Given the description of an element on the screen output the (x, y) to click on. 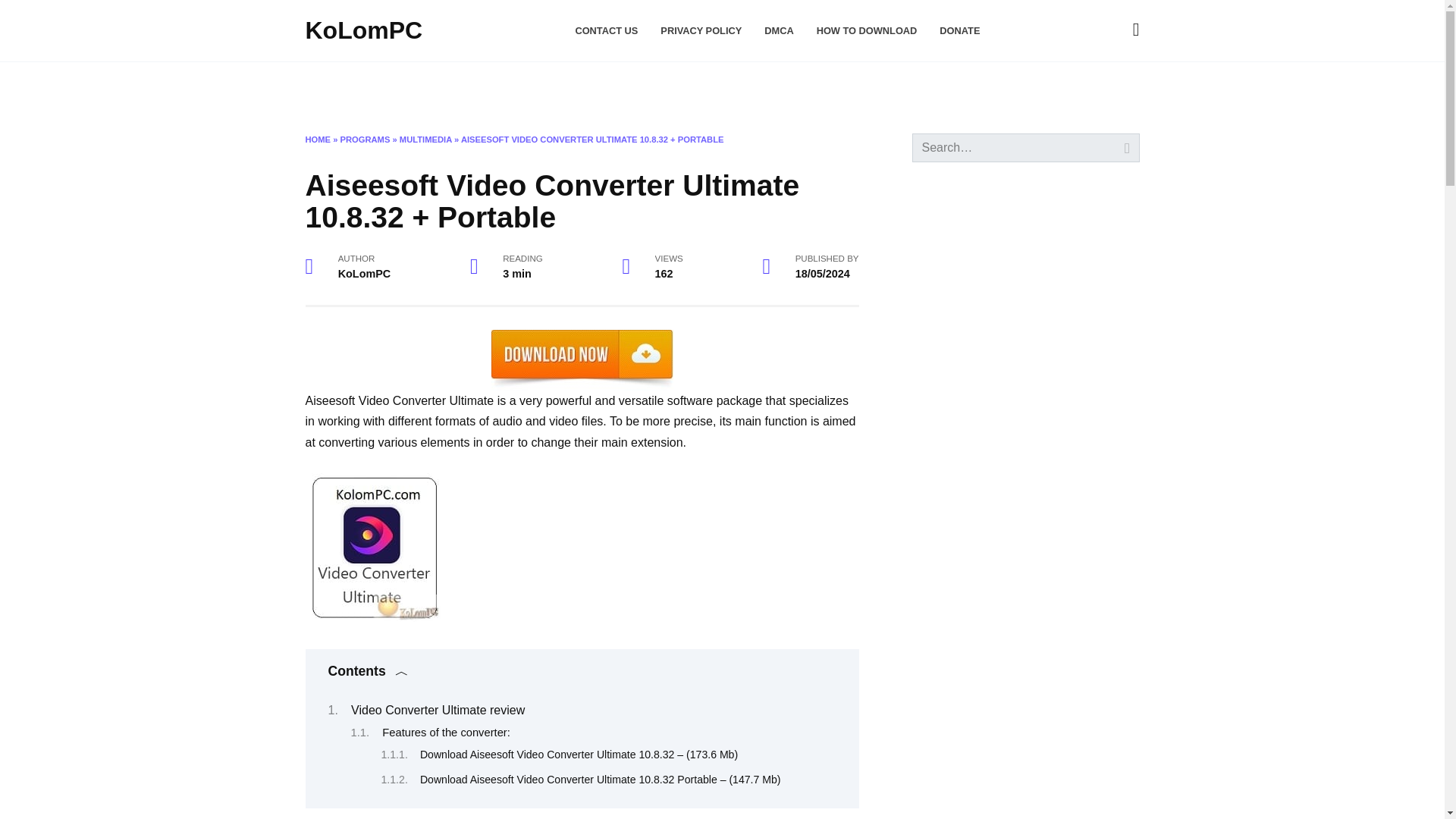
Android (560, 86)
Programs (467, 86)
macOS (386, 86)
KoLomPC (363, 30)
CONTACT US (606, 30)
Portable Apps (655, 86)
PRIVACY POLICY (701, 30)
HOW TO DOWNLOAD (866, 30)
DONATE (959, 30)
Home (325, 86)
